Given the description of an element on the screen output the (x, y) to click on. 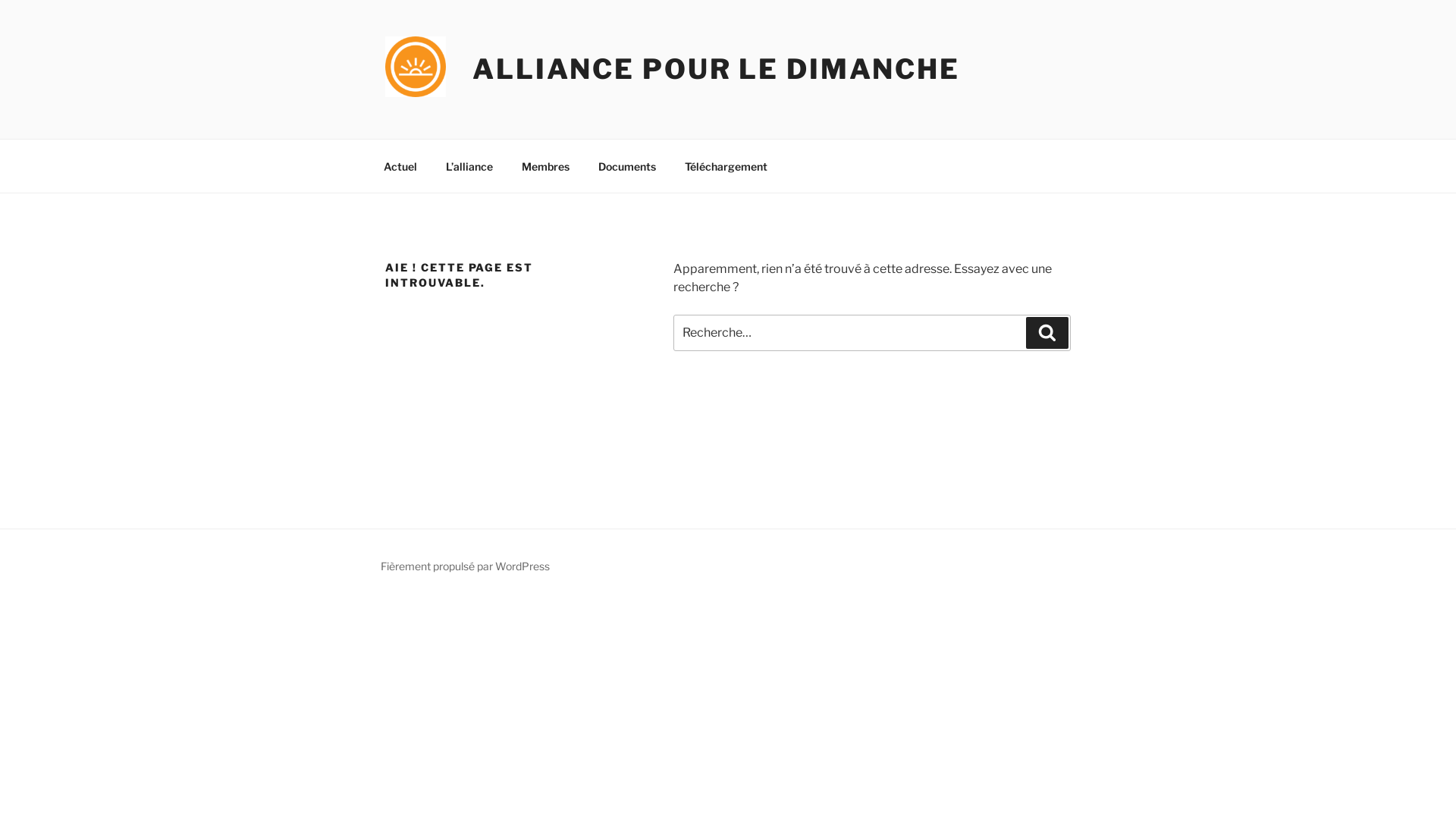
Actuel Element type: text (399, 165)
Documents Element type: text (626, 165)
Recherche Element type: text (1047, 332)
Membres Element type: text (545, 165)
ALLIANCE POUR LE DIMANCHE Element type: text (716, 68)
